Given the description of an element on the screen output the (x, y) to click on. 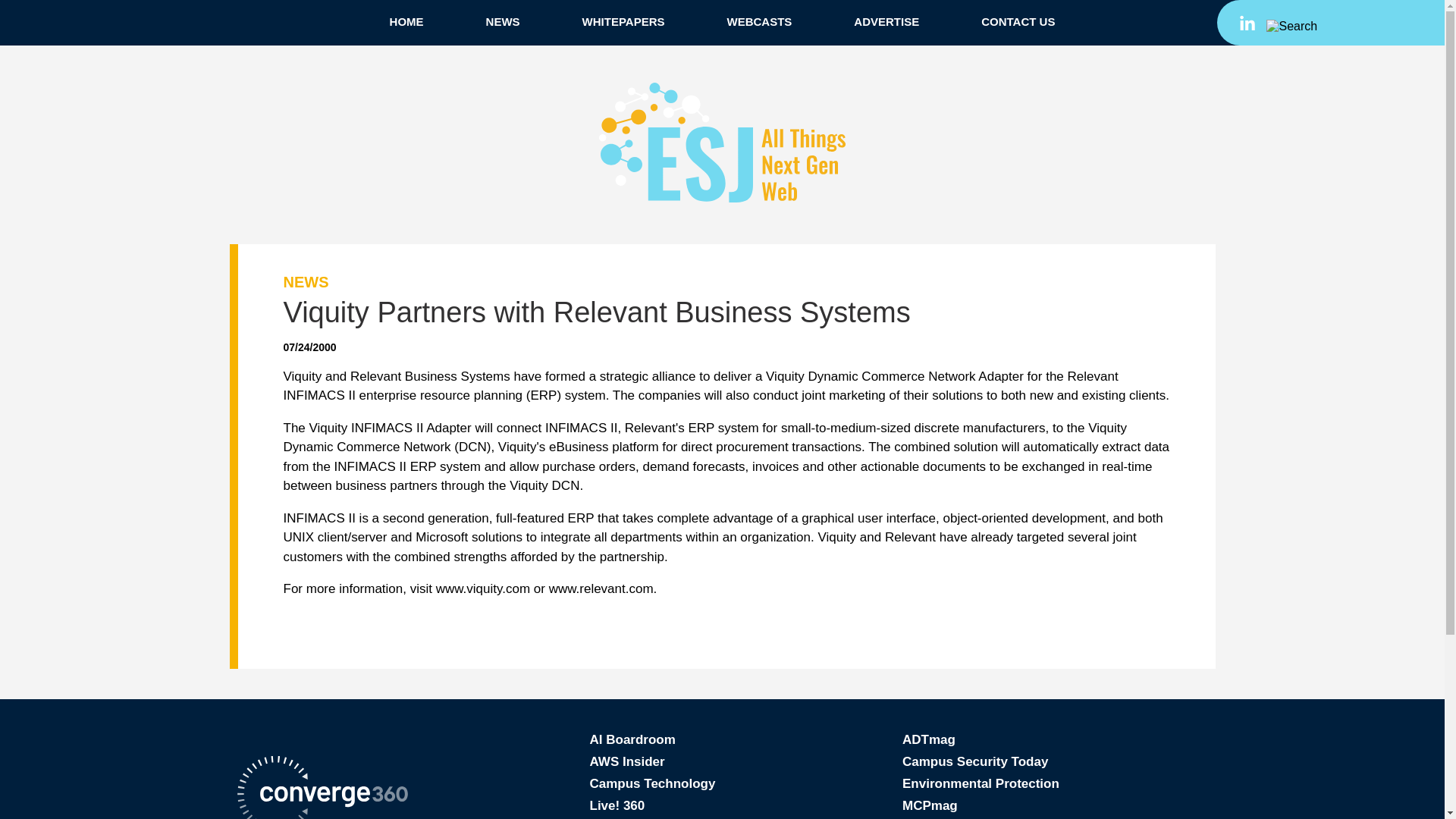
WHITEPAPERS (622, 21)
HOME (406, 21)
AI Boardroom (632, 739)
NEWS (502, 21)
NEWS (306, 281)
ADVERTISE (886, 21)
AWS Insider (627, 761)
MCPmag (930, 805)
Live! 360 (617, 805)
Environmental Protection (980, 783)
